Given the description of an element on the screen output the (x, y) to click on. 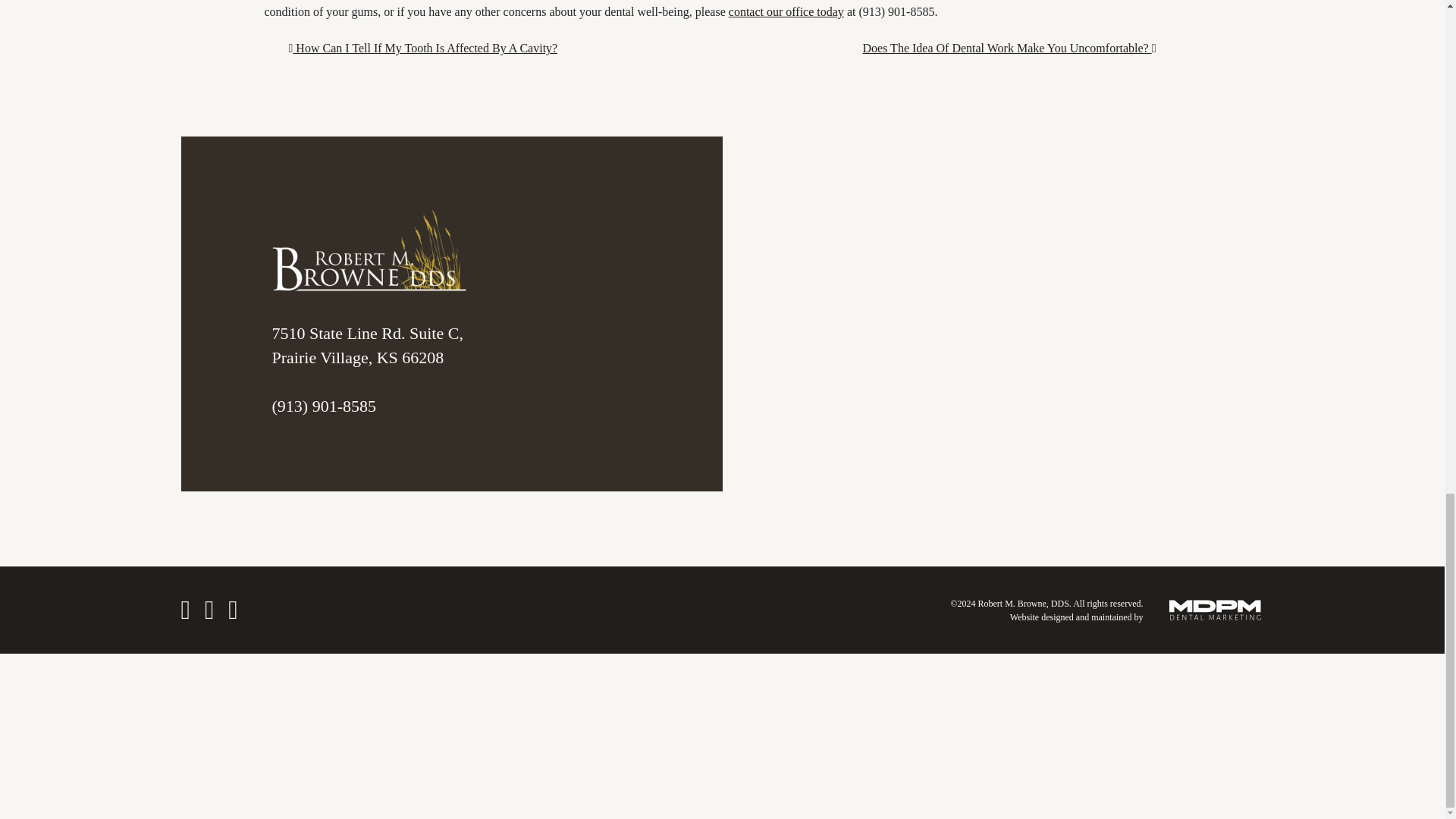
Does The Idea Of Dental Work Make You Uncomfortable?  (1009, 47)
 How Can I Tell If My Tooth Is Affected By A Cavity? (422, 47)
contact our office today (786, 11)
